Given the description of an element on the screen output the (x, y) to click on. 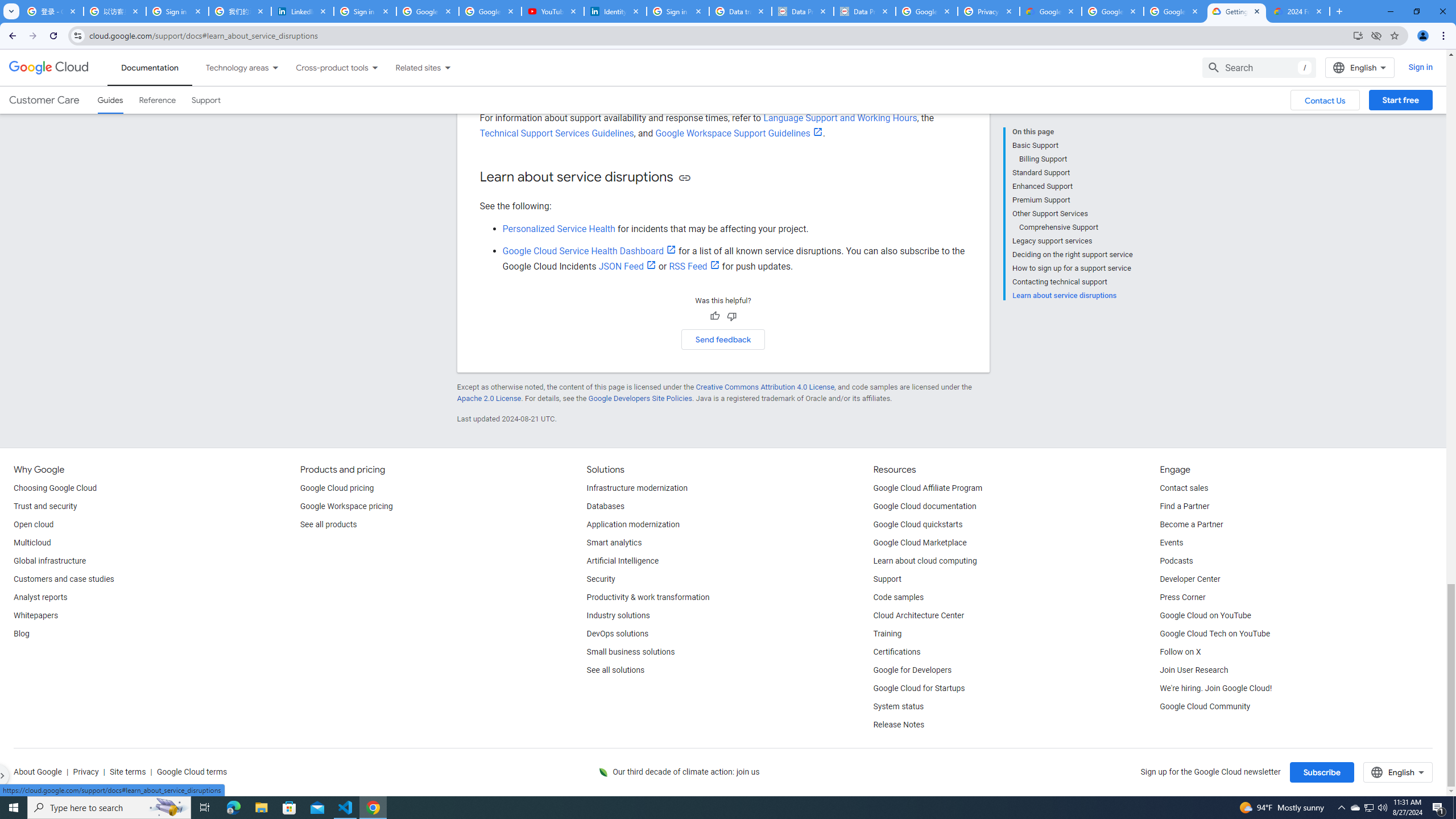
Podcasts (1175, 561)
Apache 2.0 License (489, 397)
Documentation, selected (149, 67)
Infrastructure modernization (637, 488)
Industry solutions (617, 615)
Customer Care (44, 100)
Multicloud (31, 542)
Trust and security (45, 506)
Google Cloud on YouTube (1204, 615)
Reference (157, 99)
Google Cloud Marketplace (919, 542)
English (1397, 772)
Security (600, 579)
